Given the description of an element on the screen output the (x, y) to click on. 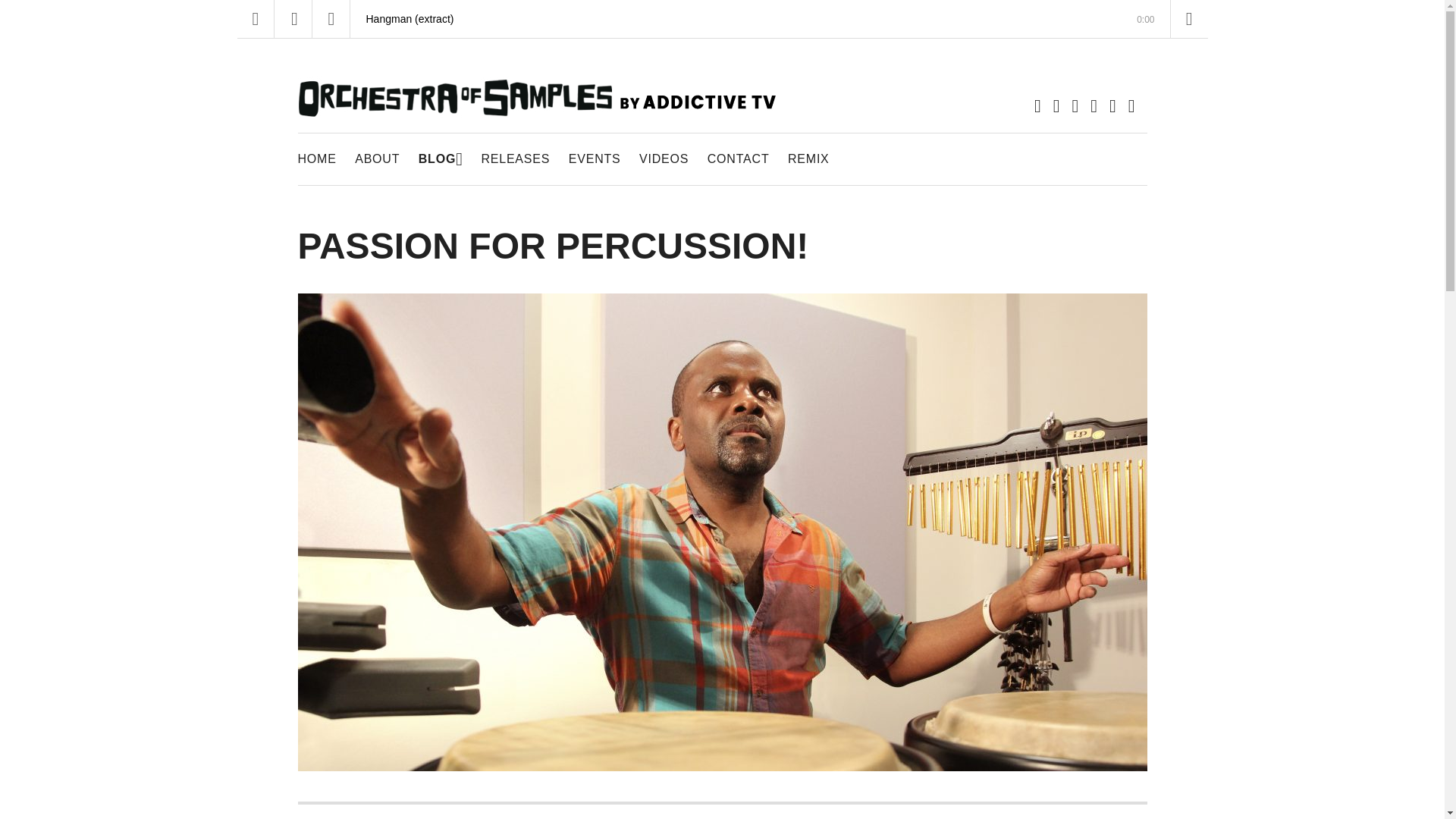
HOME (316, 158)
EVENTS (595, 158)
Next Track (331, 18)
VIDEOS (663, 158)
Previous Track (255, 18)
RELEASES (515, 158)
Play (294, 18)
ORCHESTRA OF SAMPLES (535, 173)
ABOUT (376, 158)
CONTACT (738, 158)
Toggle Playlist (441, 158)
REMIX (1189, 18)
